Given the description of an element on the screen output the (x, y) to click on. 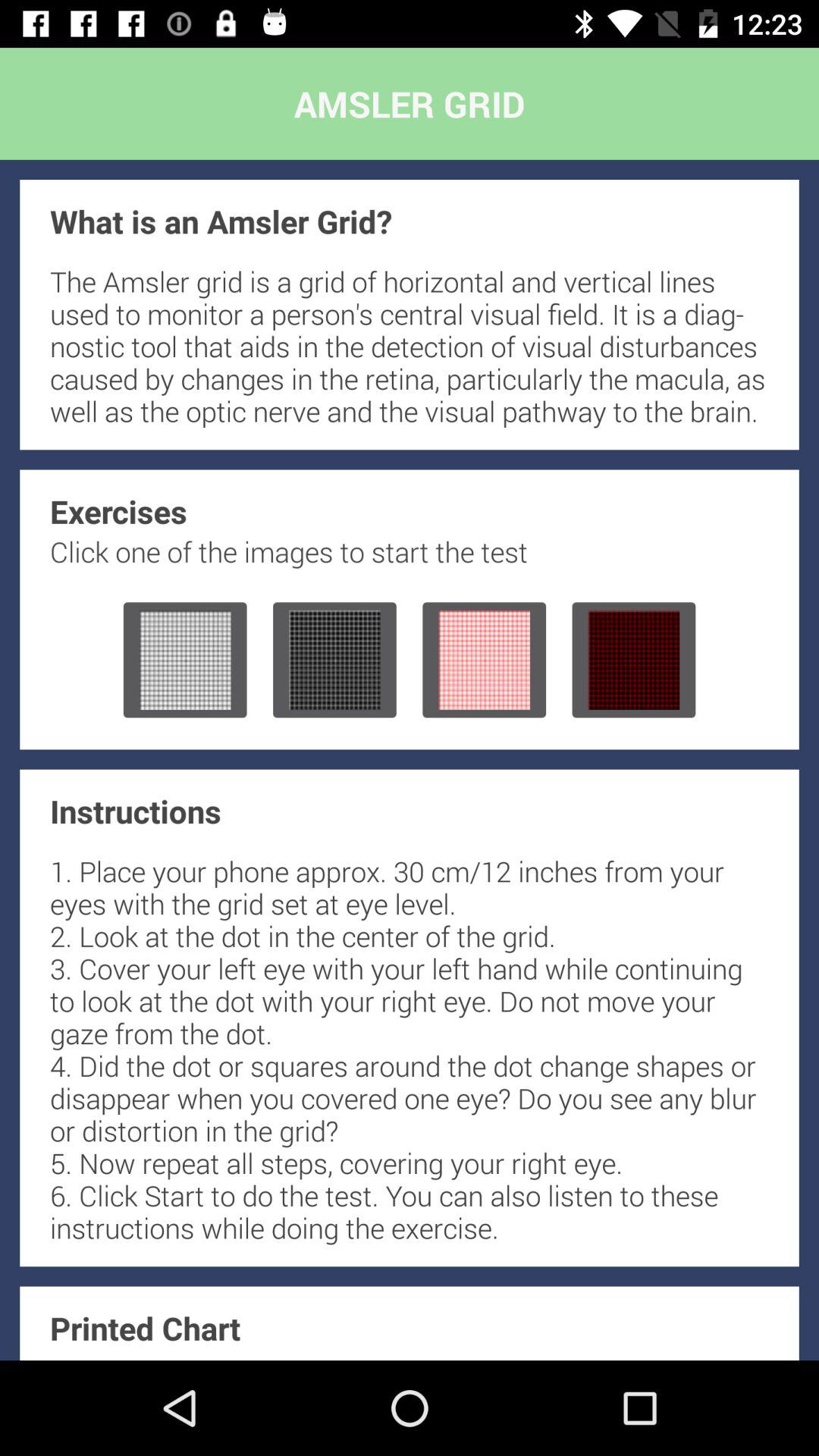
button for choosing pink image (483, 659)
